Given the description of an element on the screen output the (x, y) to click on. 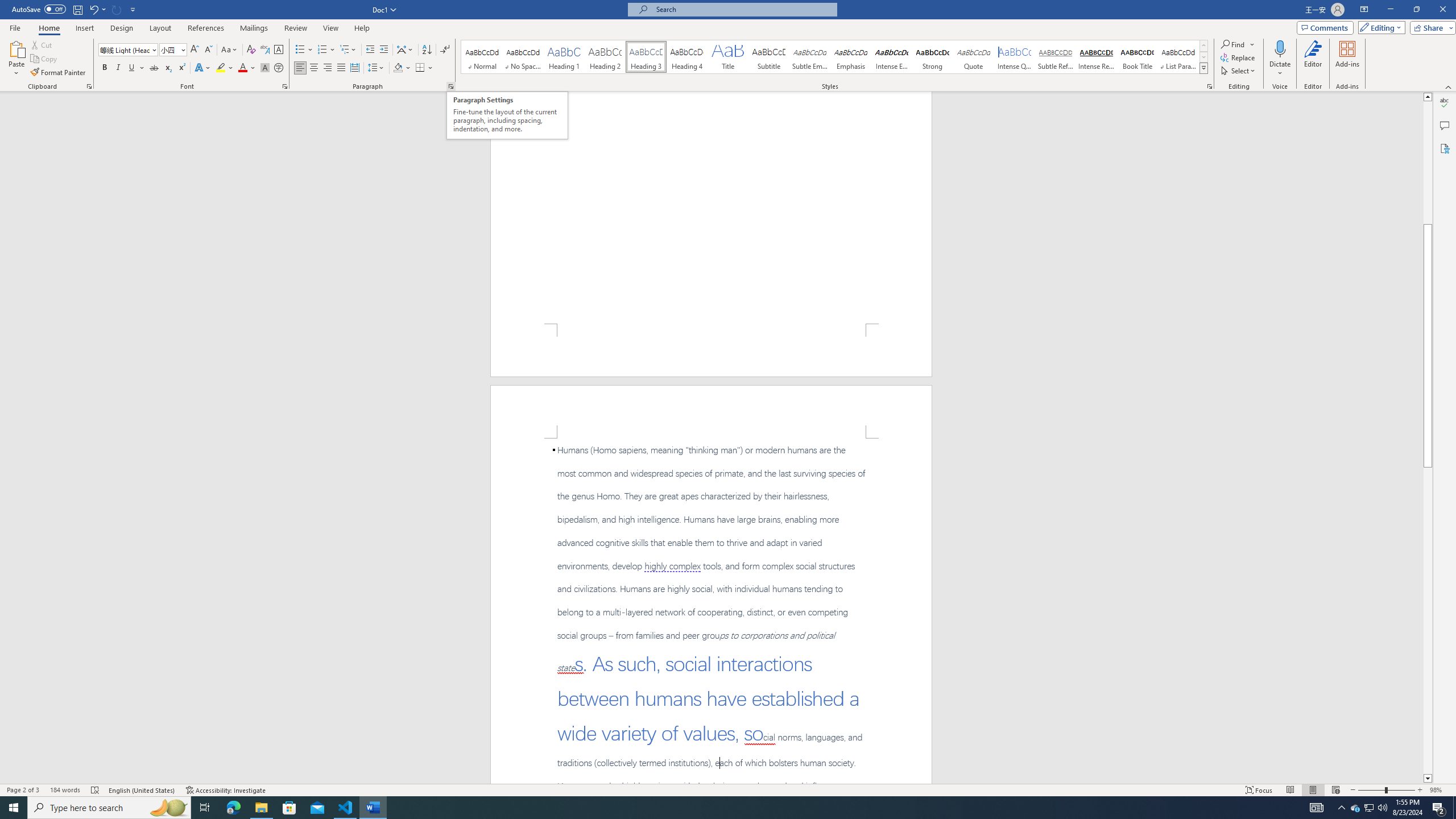
Show/Hide Editing Marks (444, 49)
Book Title (1136, 56)
Select (1238, 69)
Character Shading (264, 67)
Shading RGB(0, 0, 0) (397, 67)
Row Down (1203, 56)
Cut (42, 44)
Paragraph... (450, 85)
